Given the description of an element on the screen output the (x, y) to click on. 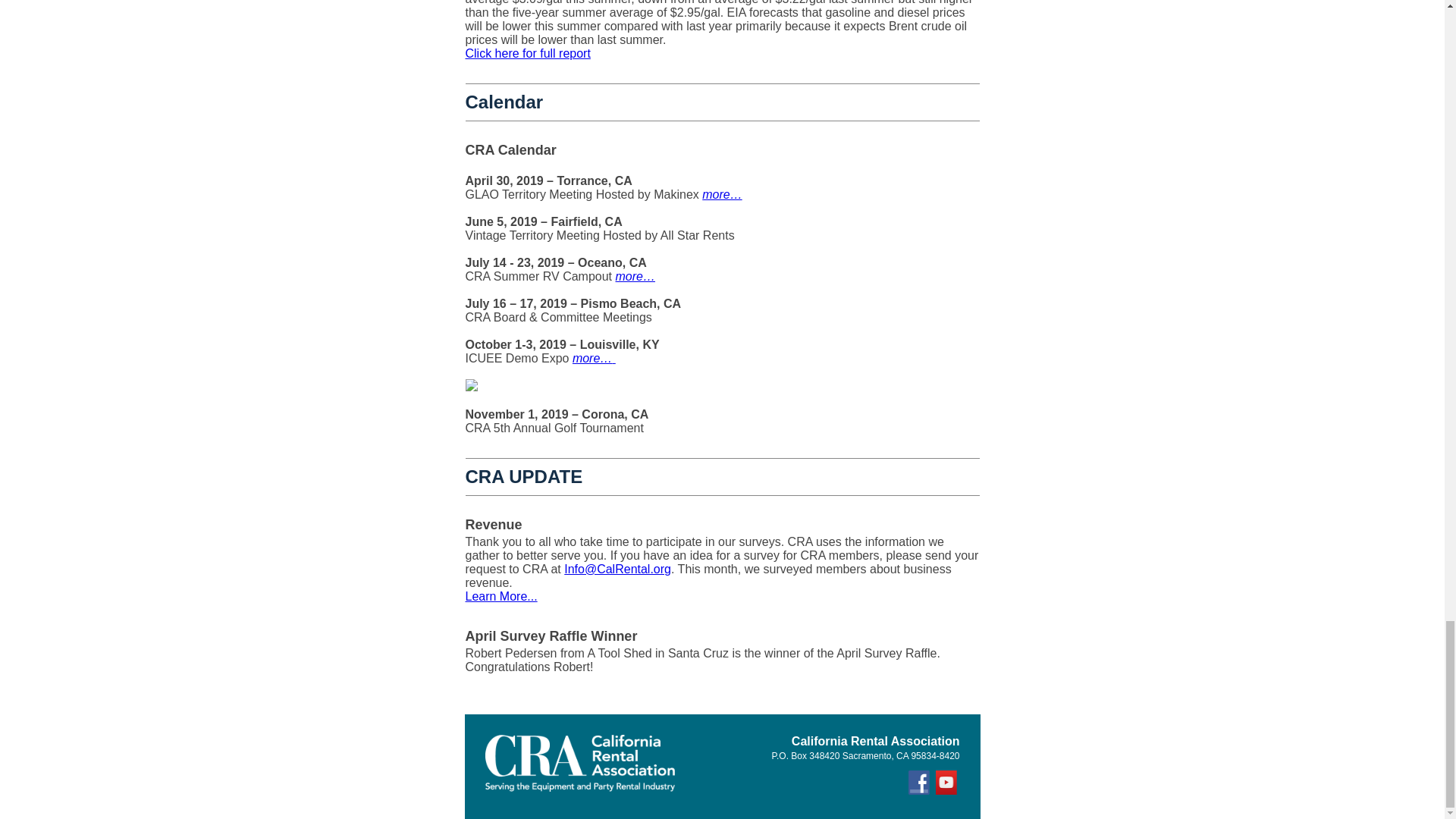
Facebook (920, 791)
Click here for full report (528, 52)
YouTube (947, 782)
Facebook (920, 782)
California Rental Association (579, 762)
CRA Calendar (510, 150)
YouTube (947, 791)
